Given the description of an element on the screen output the (x, y) to click on. 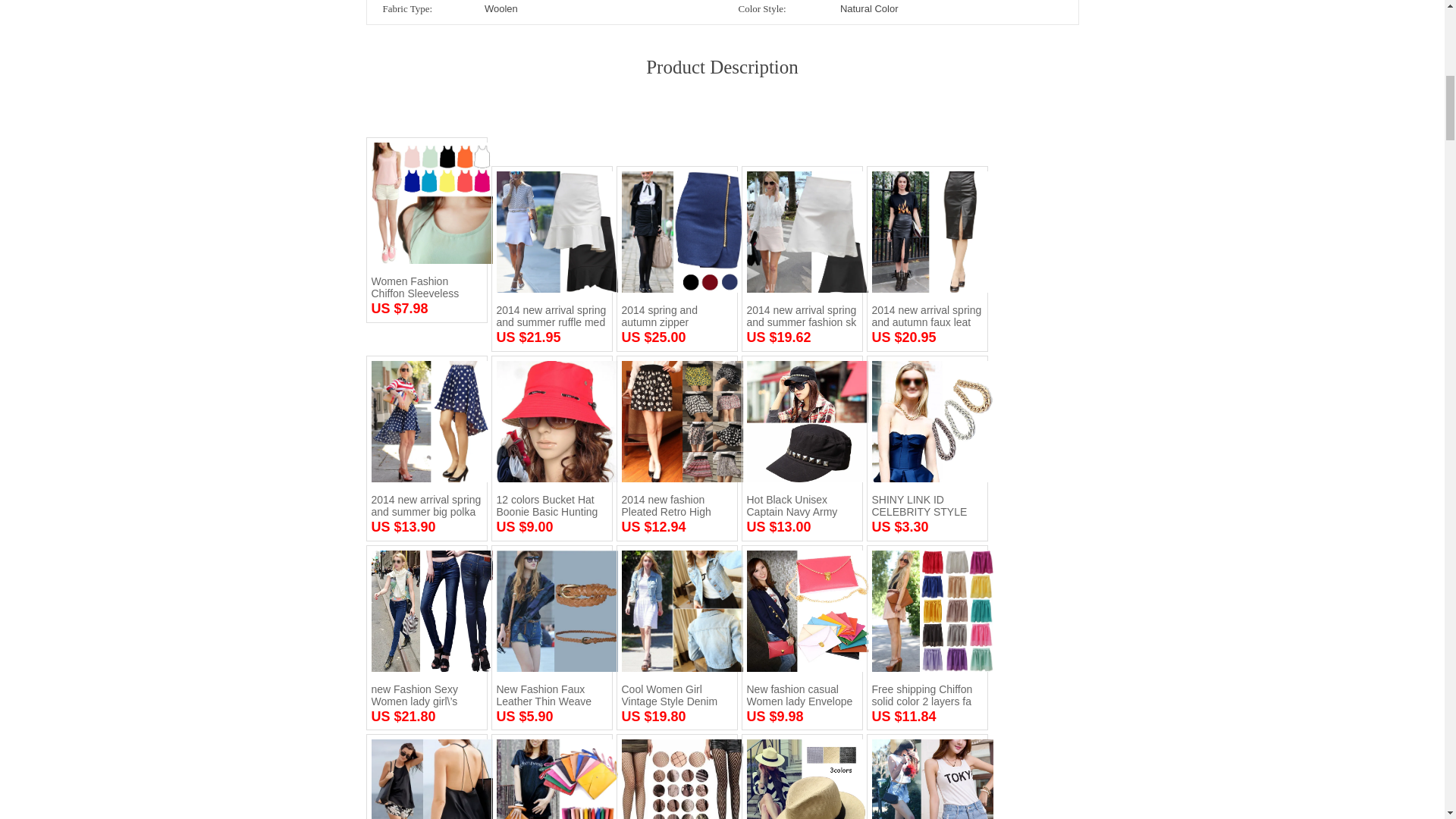
Fedora Derby hat Women Unisex Trilby Cap Summ (801, 779)
15 styles Black New Fashion Women Sexy Fishn (676, 779)
2014 summer fashion solid color halter-neck c (426, 779)
Free Shipping 2014 Spring Summer Autumn Winte (927, 779)
New fashion casual Women Envelope Purse Clu (551, 779)
